Given the description of an element on the screen output the (x, y) to click on. 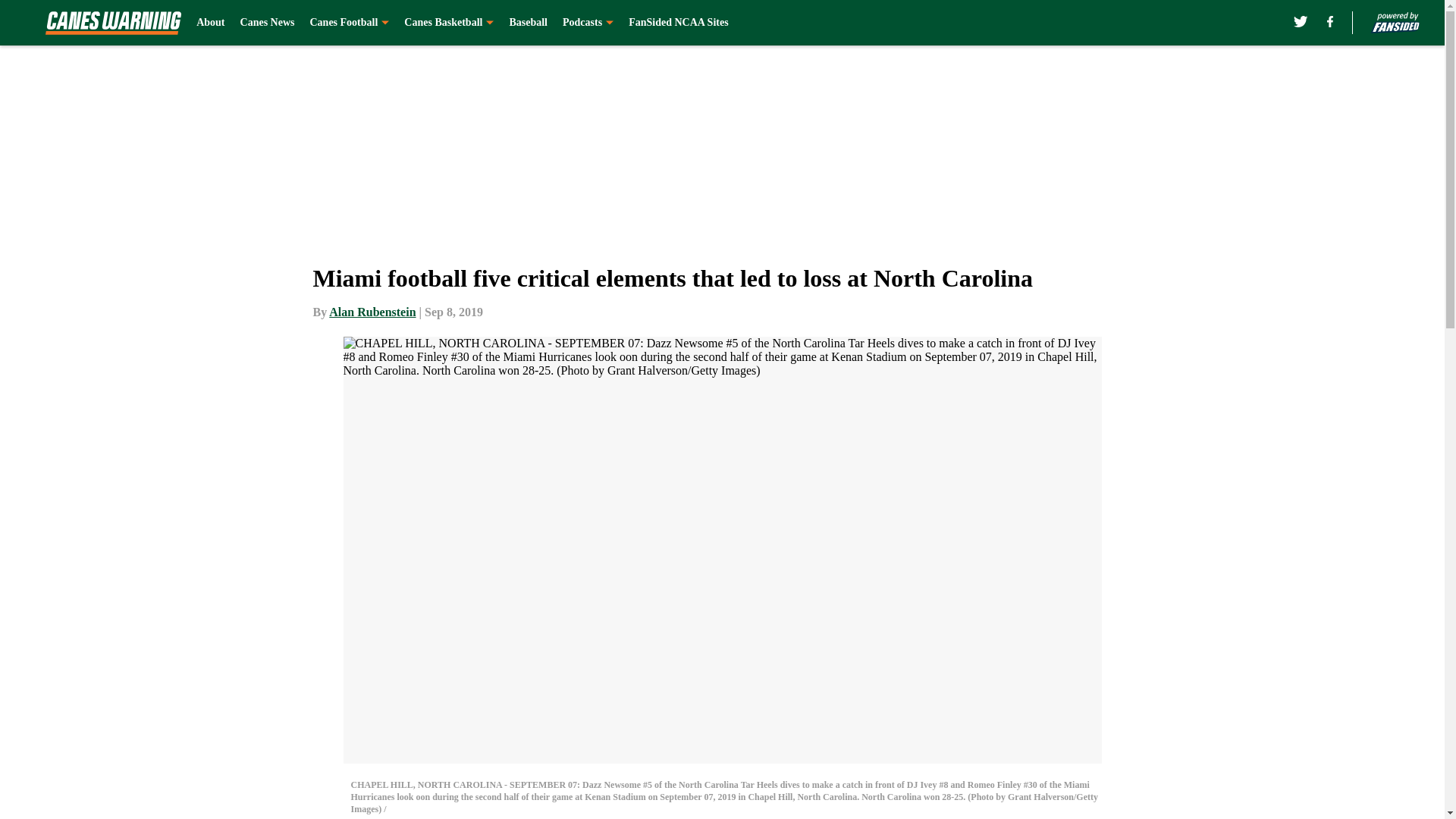
About (210, 22)
Canes News (267, 22)
Alan Rubenstein (371, 311)
FanSided NCAA Sites (678, 22)
Baseball (527, 22)
